Given the description of an element on the screen output the (x, y) to click on. 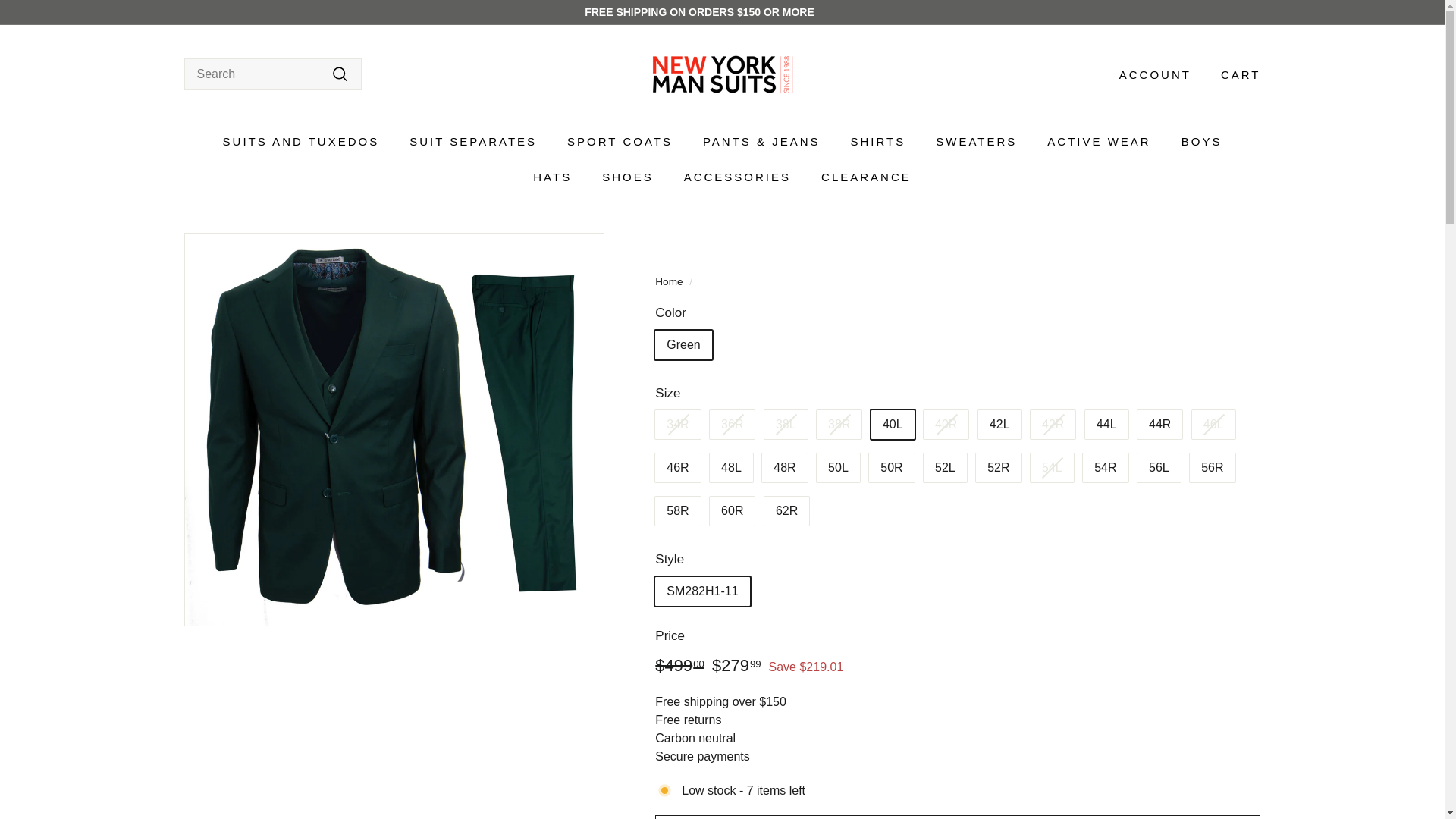
Back to the frontpage (668, 281)
New York Man Suits on Instagram (1248, 12)
CART (1234, 73)
Instagram (1248, 12)
YouTube (1256, 12)
Facebook (1226, 12)
